Given the description of an element on the screen output the (x, y) to click on. 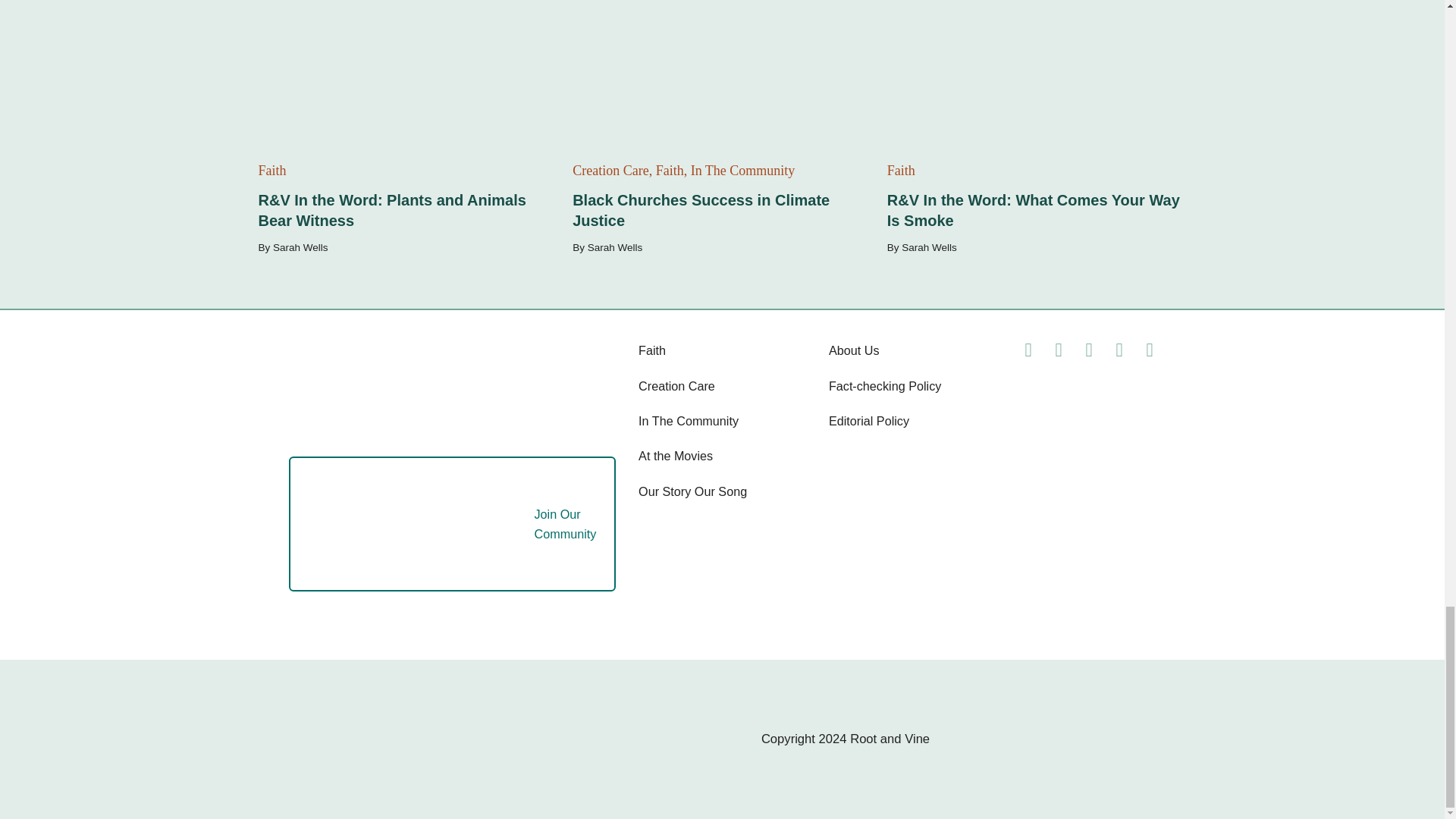
Creation Care (676, 386)
Our Story Our Song (692, 490)
Join Our Community (436, 523)
Faith (652, 350)
Fact-checking Policy (884, 386)
Editorial Policy (868, 420)
About Us (853, 350)
Instagram (1089, 349)
In The Community (688, 420)
Twitter (1058, 349)
Twitter (1058, 349)
Facebook (1028, 349)
At the Movies (676, 455)
Pinterest (1119, 349)
